Given the description of an element on the screen output the (x, y) to click on. 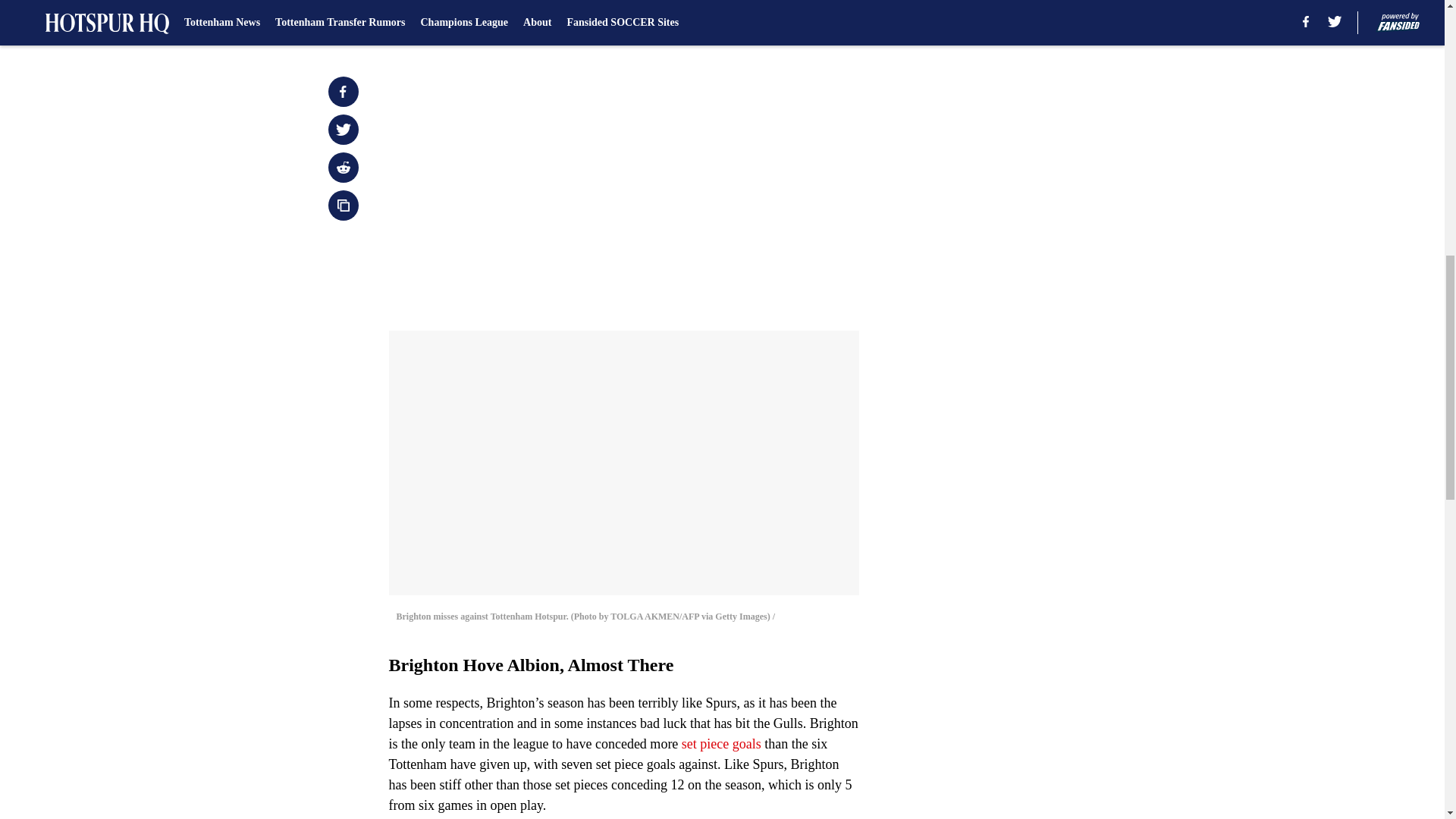
Next (813, 20)
set piece goals (721, 743)
Prev (433, 20)
